Given the description of an element on the screen output the (x, y) to click on. 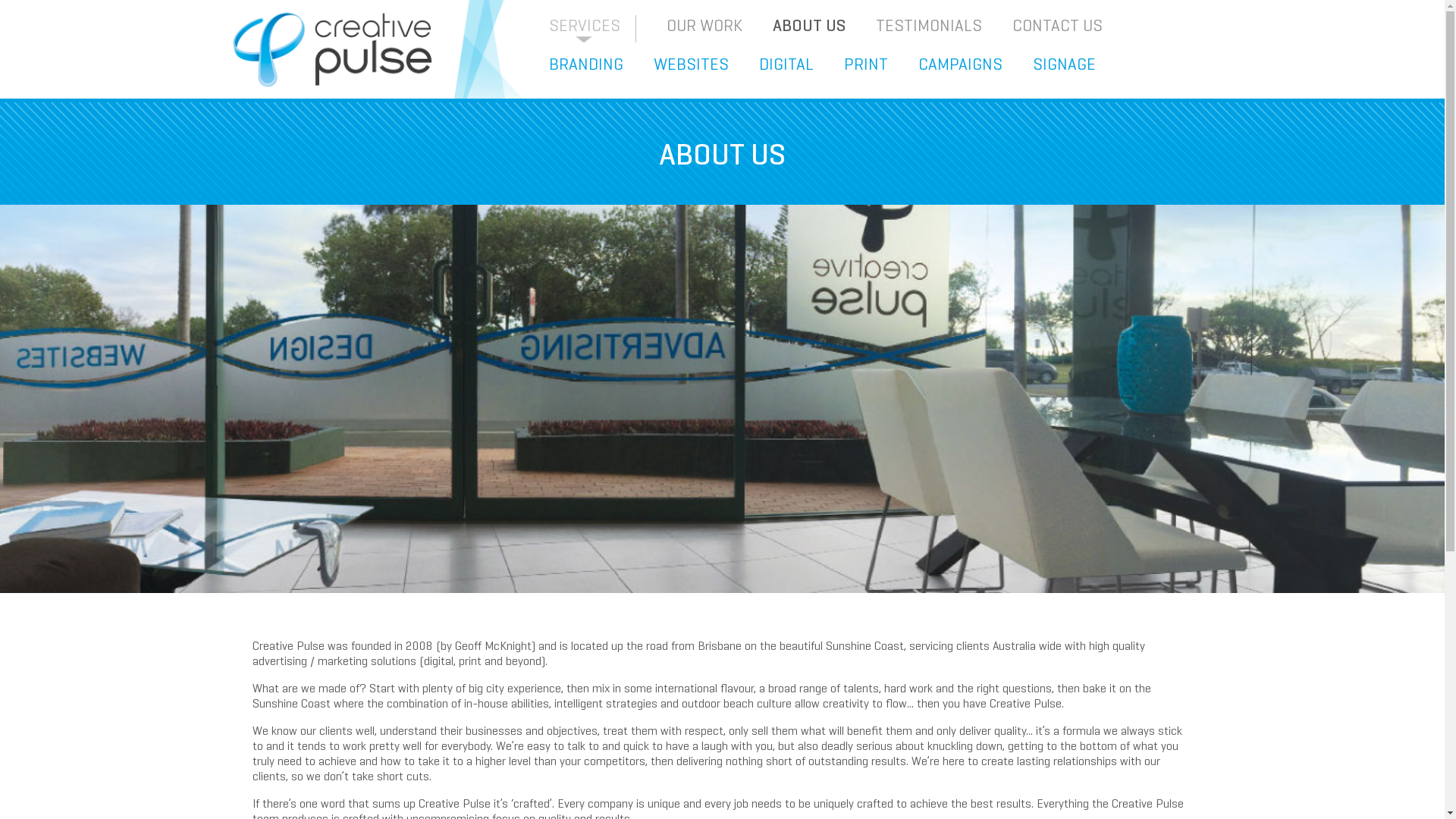
OUR WORK Element type: text (703, 25)
WEBSITES Element type: text (690, 63)
CONTACT US Element type: text (1056, 25)
SERVICES Element type: text (584, 28)
PRINT Element type: text (865, 63)
SIGNAGE Element type: text (1063, 63)
ABOUT US Element type: text (807, 25)
TESTIMONIALS Element type: text (928, 25)
BRANDING Element type: text (586, 63)
CAMPAIGNS Element type: text (959, 63)
DIGITAL Element type: text (785, 63)
